Given the description of an element on the screen output the (x, y) to click on. 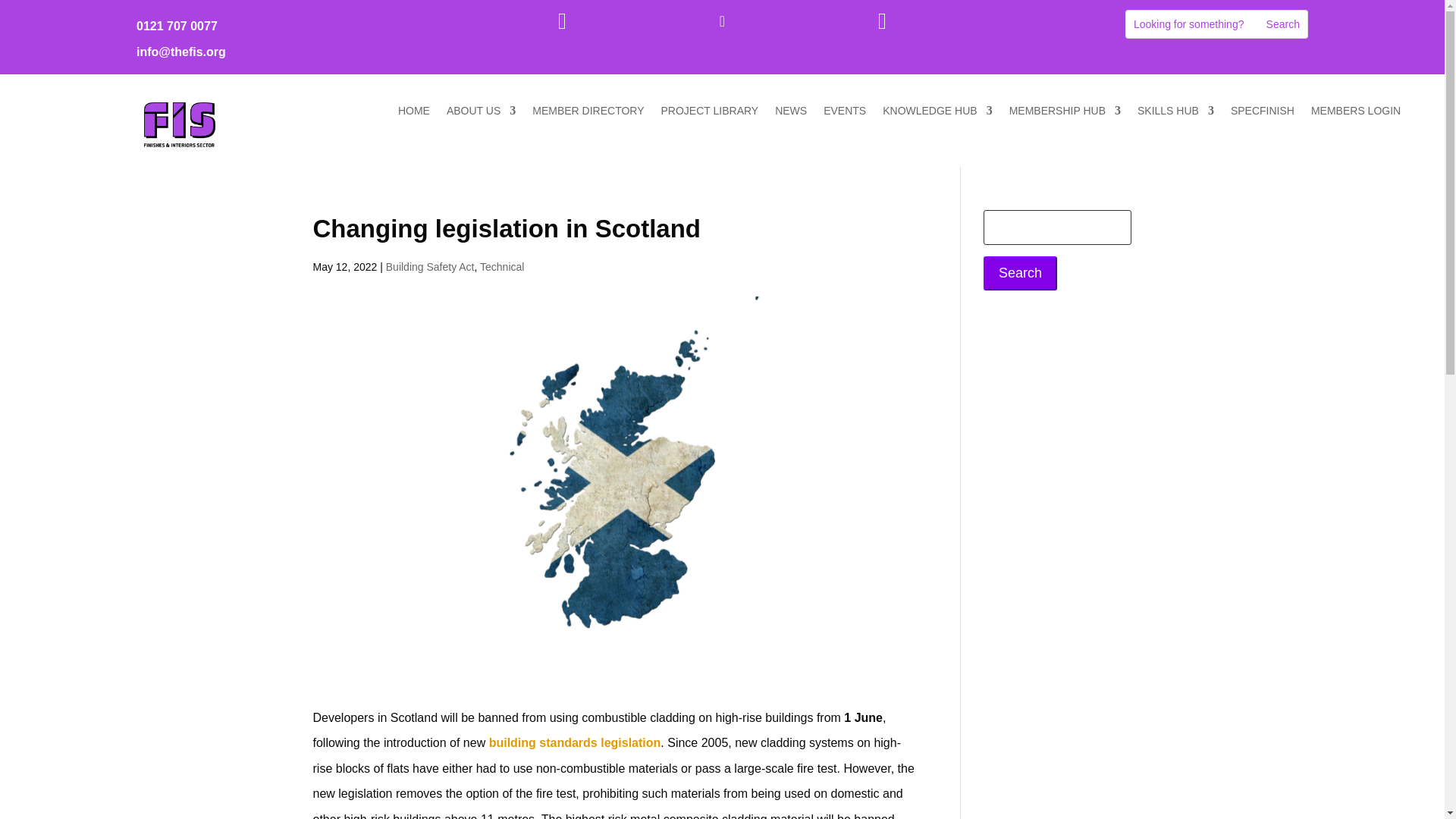
PROJECT LIBRARY (709, 113)
Search (1283, 23)
ABOUT US (480, 113)
HOME (413, 113)
MEMBER DIRECTORY (587, 113)
KNOWLEDGE HUB (936, 113)
NEWS (790, 113)
Search (1283, 23)
EVENTS (845, 113)
MEMBERSHIP HUB (1065, 113)
